Given the description of an element on the screen output the (x, y) to click on. 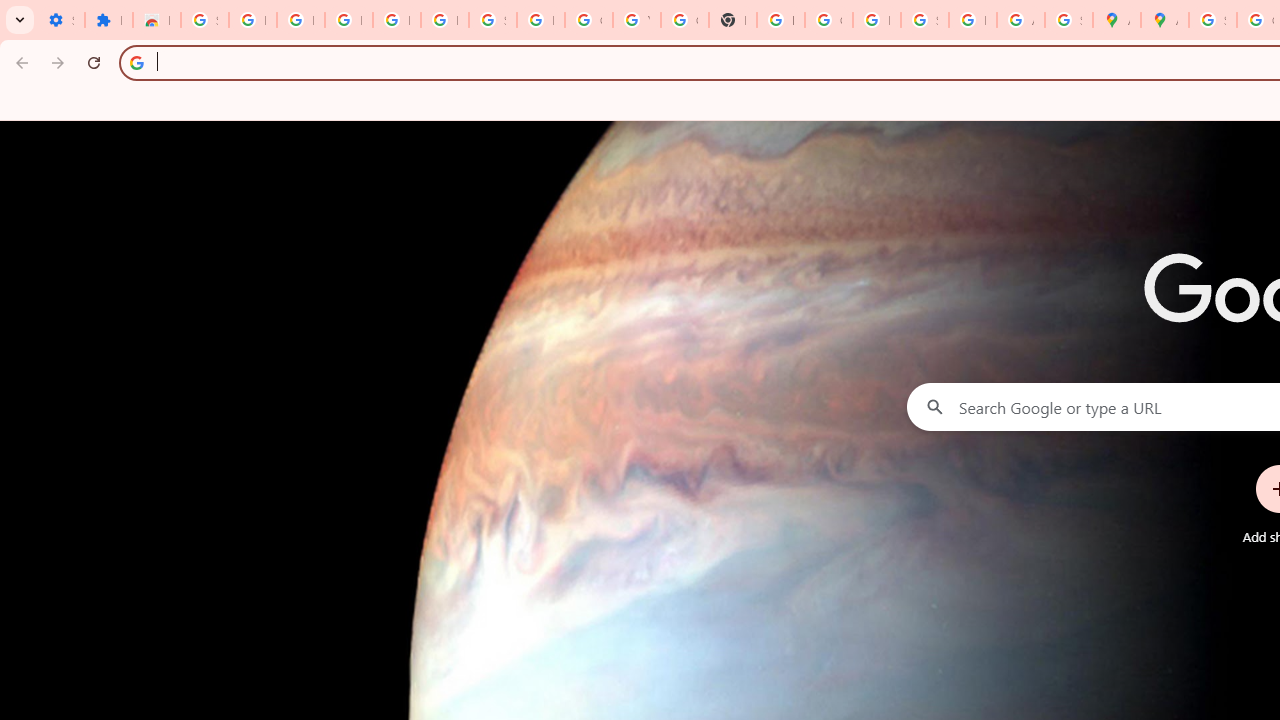
Safety in Our Products - Google Safety Center (1068, 20)
Reviews: Helix Fruit Jump Arcade Game (156, 20)
Delete photos & videos - Computer - Google Photos Help (348, 20)
